Given the description of an element on the screen output the (x, y) to click on. 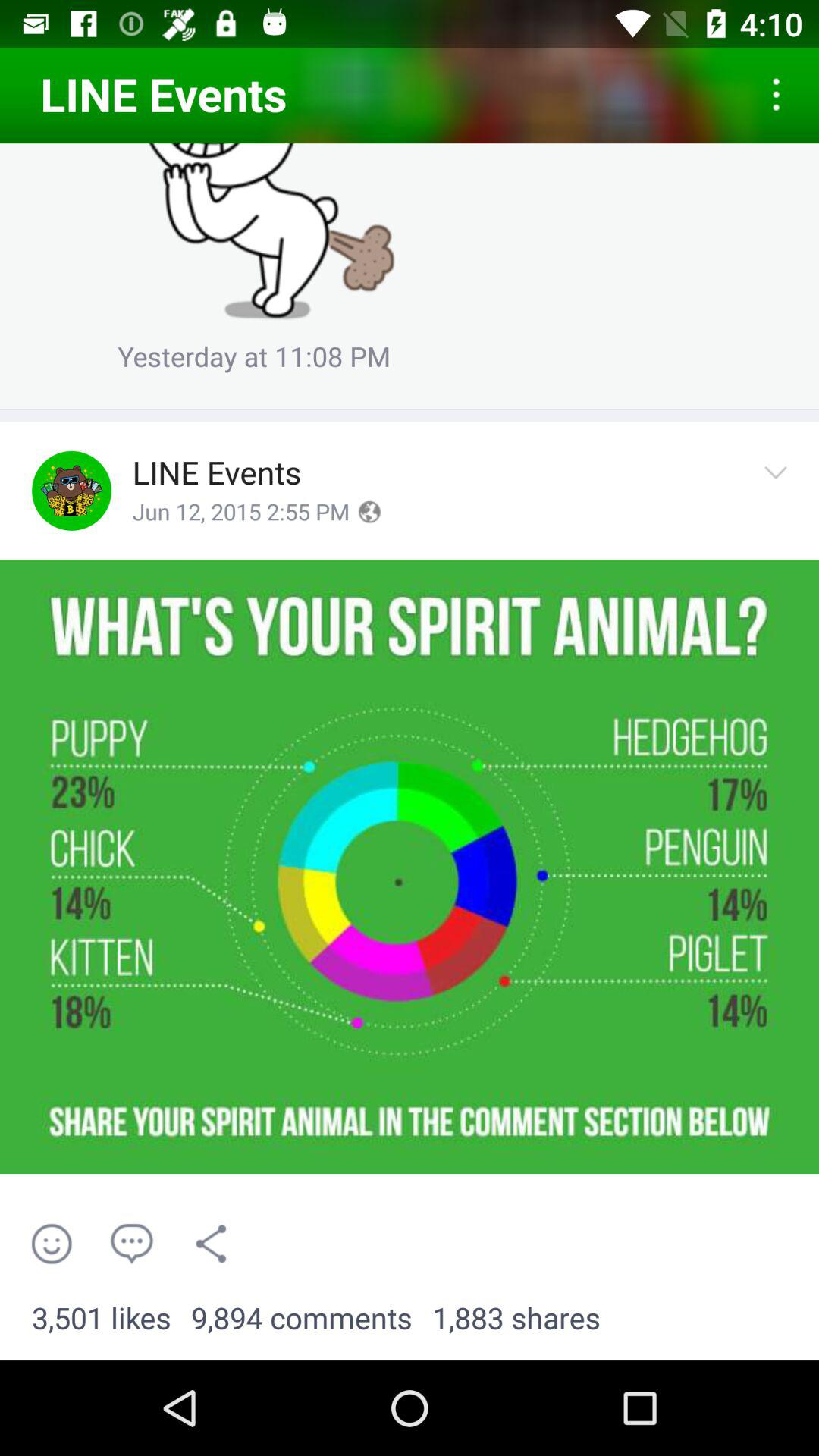
jump to jun 12 2015 (240, 512)
